Given the description of an element on the screen output the (x, y) to click on. 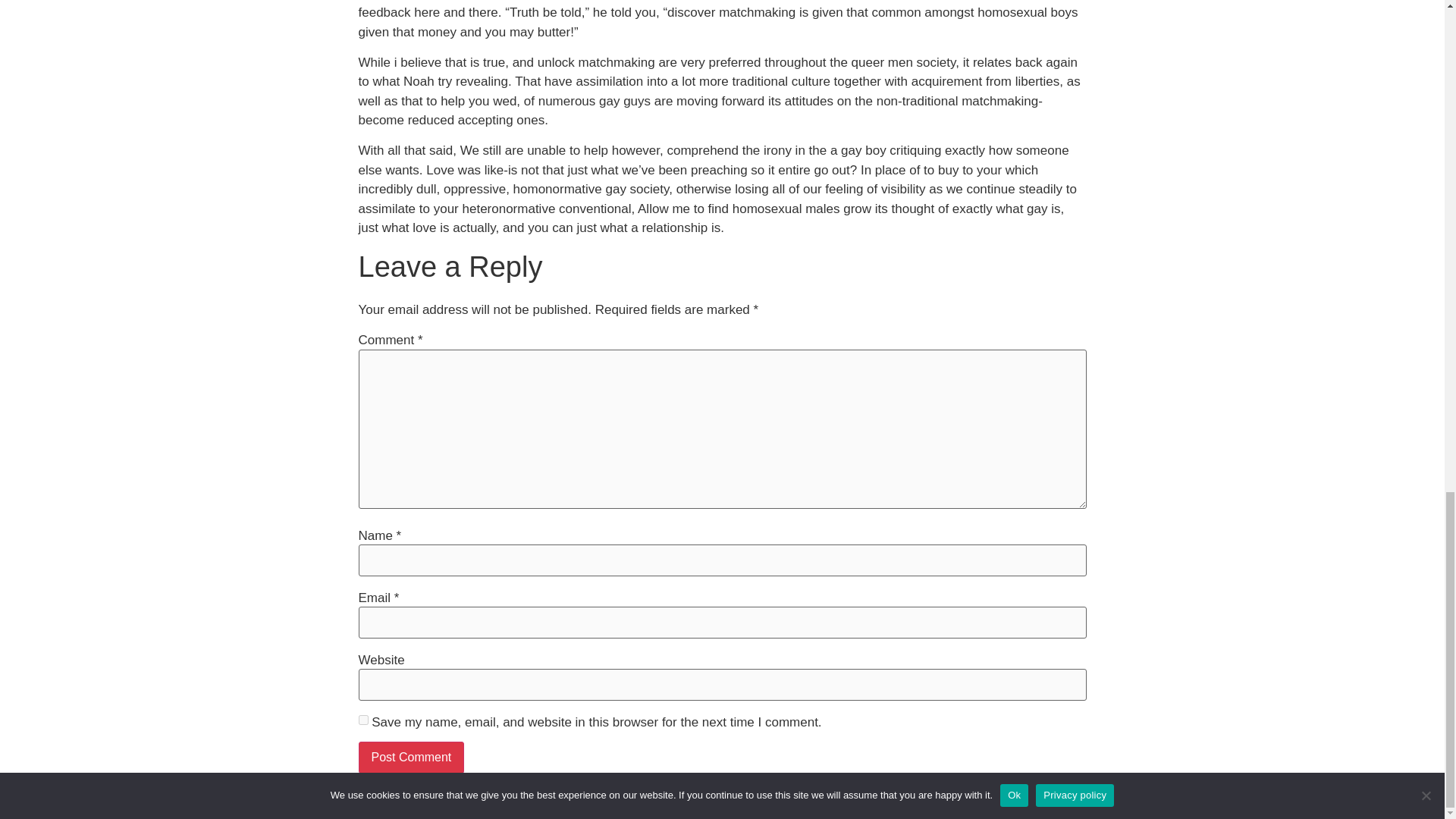
Post Comment (411, 757)
Privacy Policy (769, 801)
Post Comment (411, 757)
yes (363, 719)
